Given the description of an element on the screen output the (x, y) to click on. 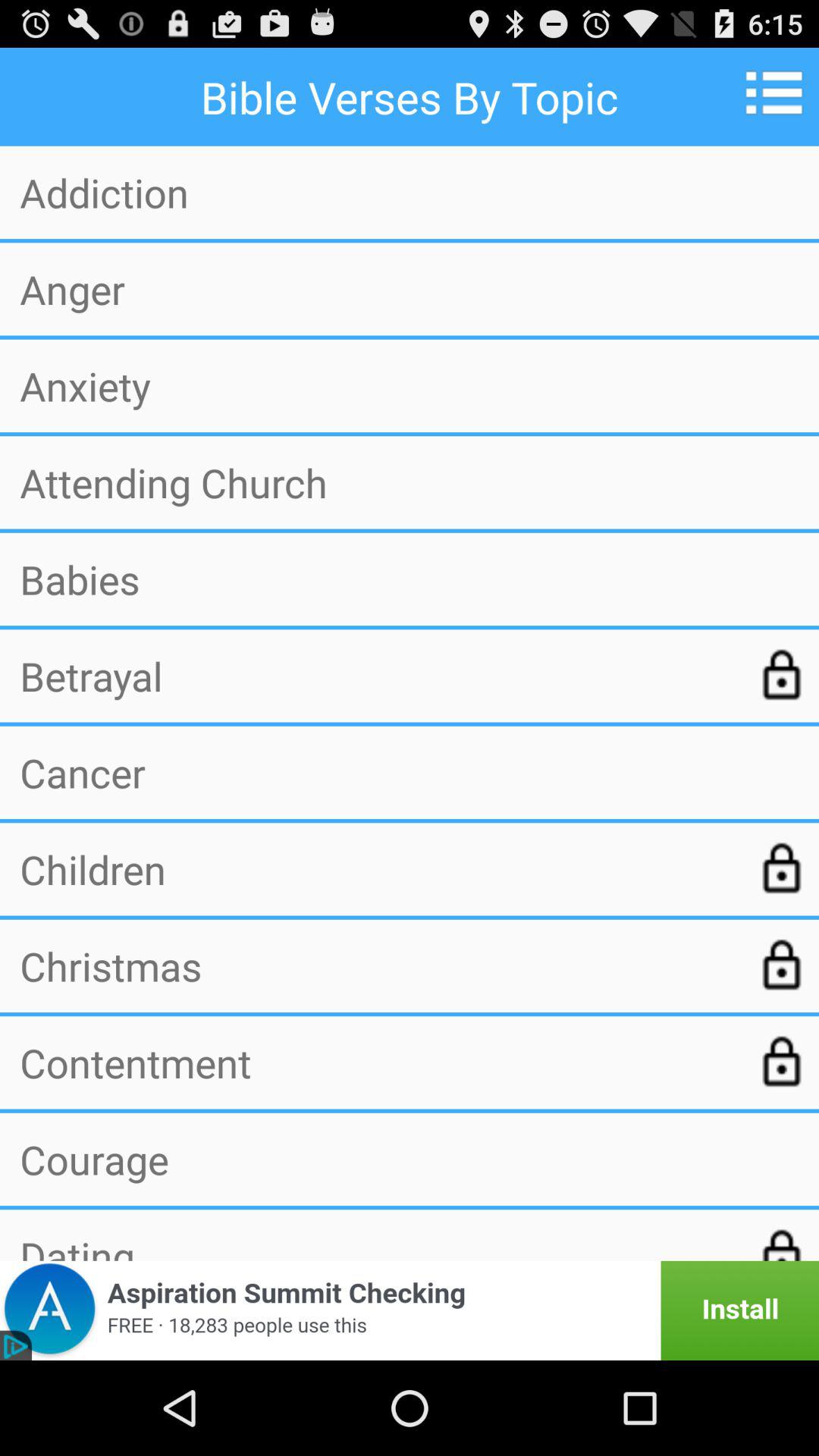
click cancer (409, 772)
